Given the description of an element on the screen output the (x, y) to click on. 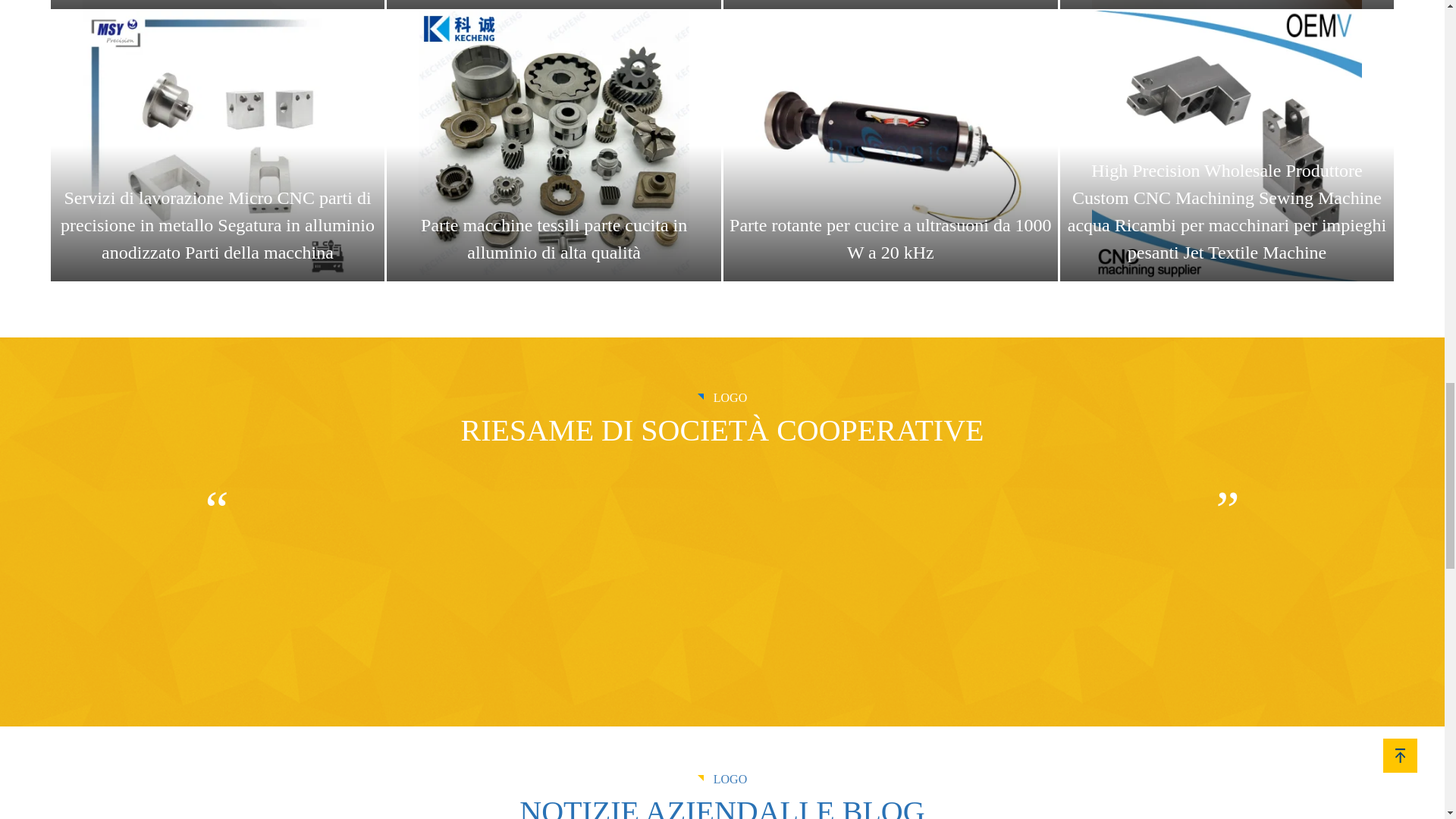
Parte rotante per cucire a ultrasuoni da 1000 W a 20 kHz (890, 145)
